Given the description of an element on the screen output the (x, y) to click on. 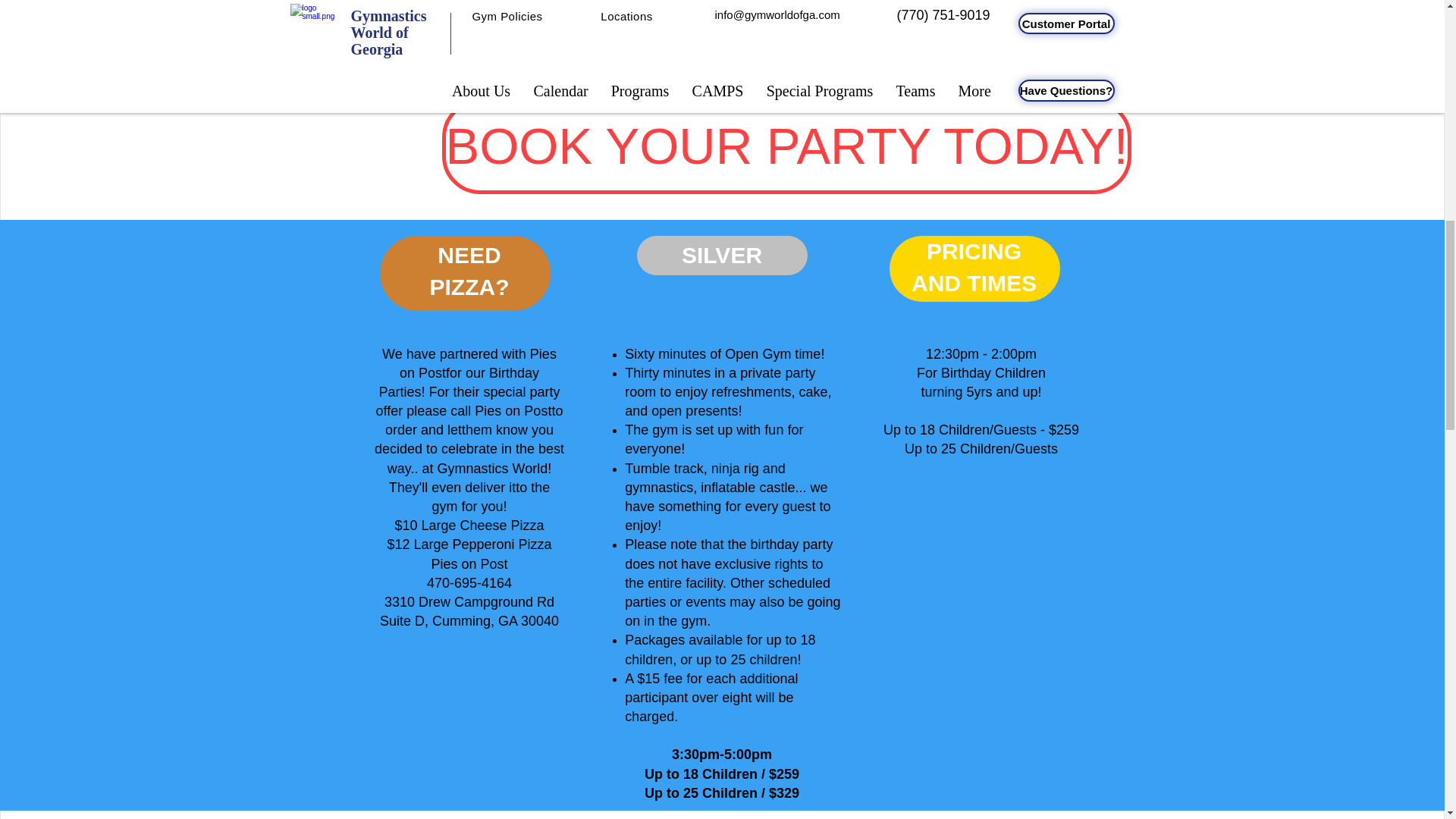
BOOK YOUR PARTY TODAY! (786, 145)
